Given the description of an element on the screen output the (x, y) to click on. 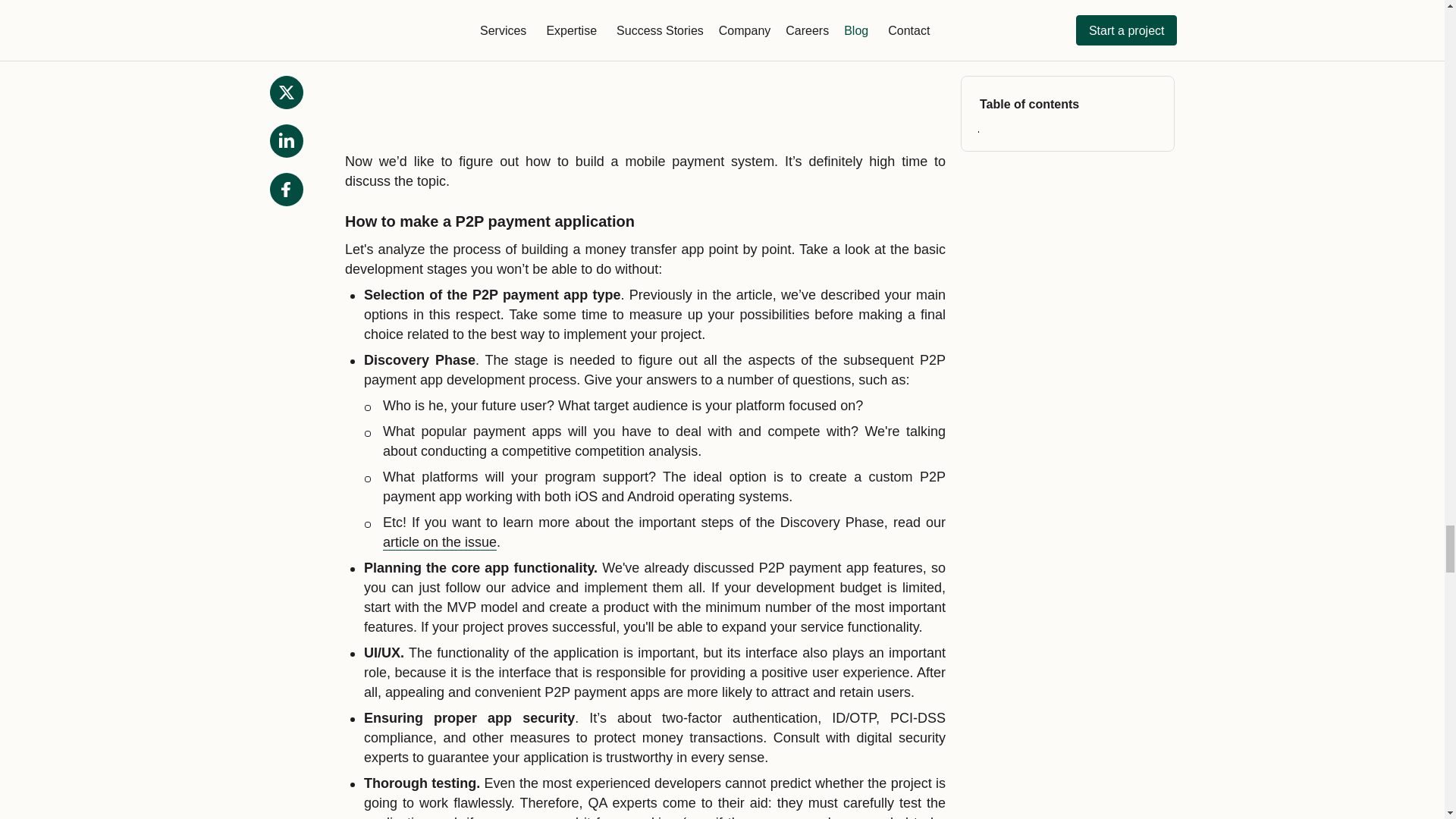
article on the issue (439, 542)
